Given the description of an element on the screen output the (x, y) to click on. 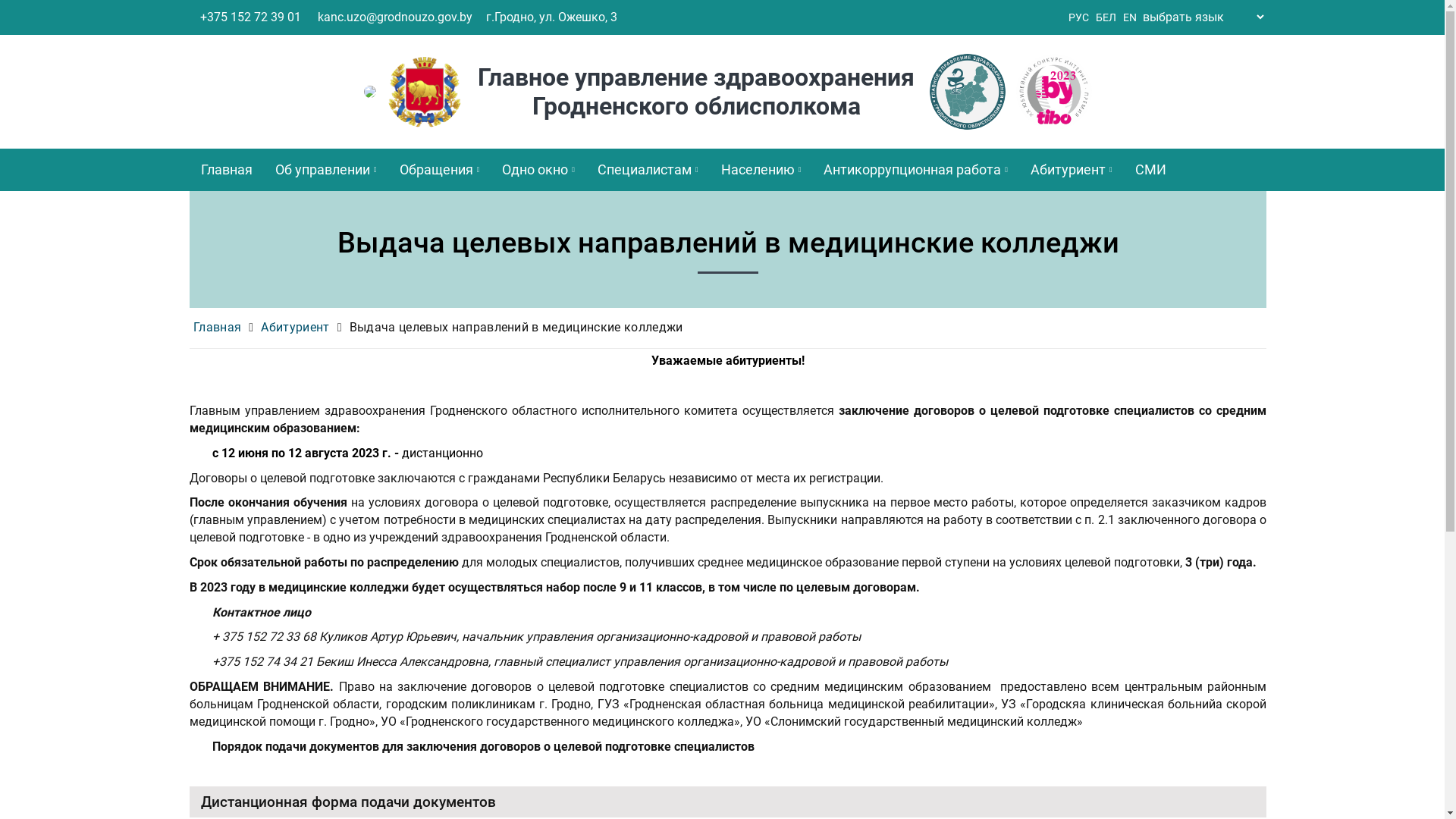
EN Element type: text (1129, 17)
